Given the description of an element on the screen output the (x, y) to click on. 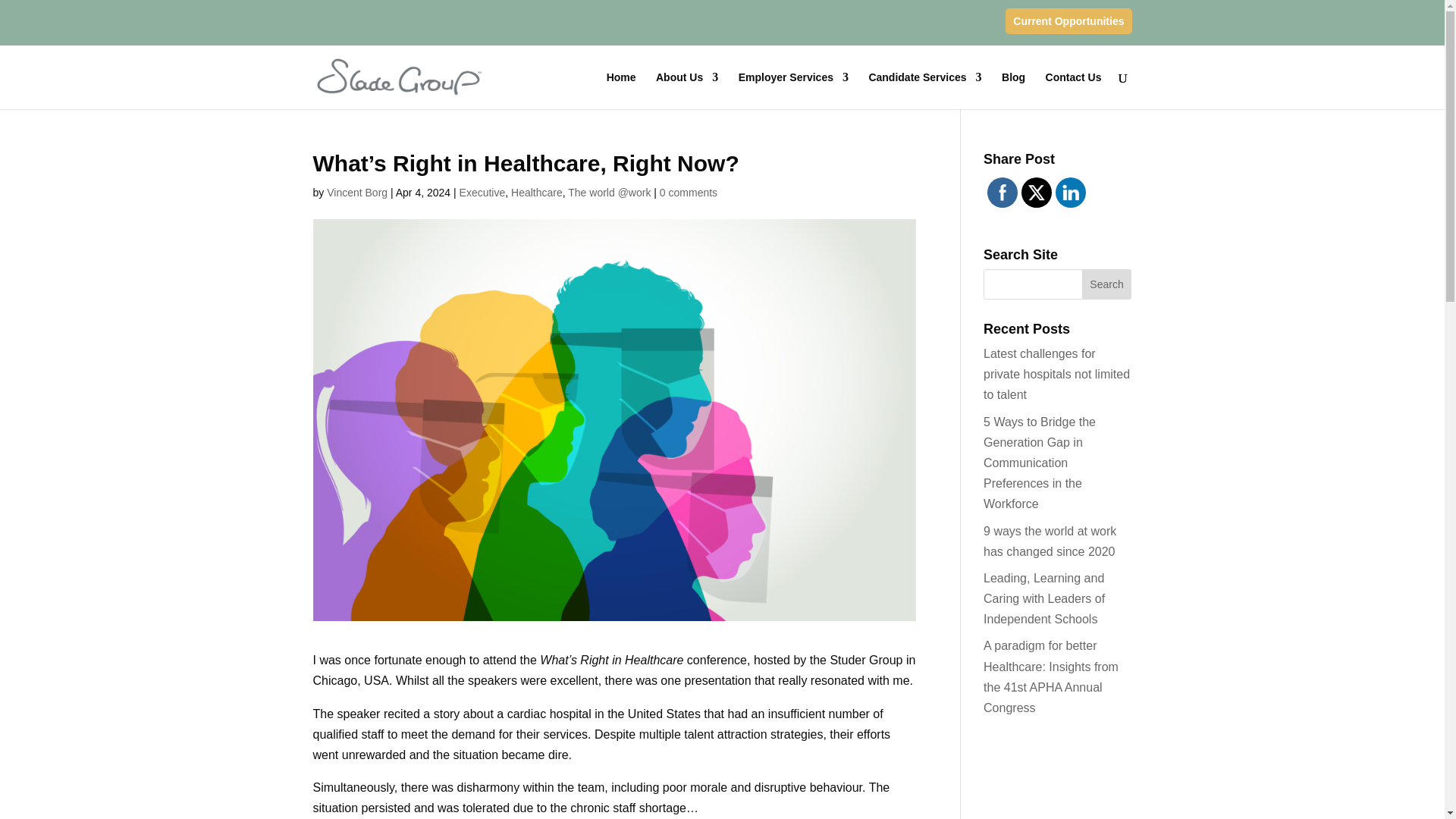
About Us (686, 89)
LinkedIn (1070, 192)
Current Opportunities (1068, 20)
Posts by Vincent Borg (356, 192)
Contact Us (1073, 89)
Facebook (1002, 192)
Employer Services (793, 89)
Candidate Services (924, 89)
Search (1106, 284)
Twitter (1036, 192)
